Given the description of an element on the screen output the (x, y) to click on. 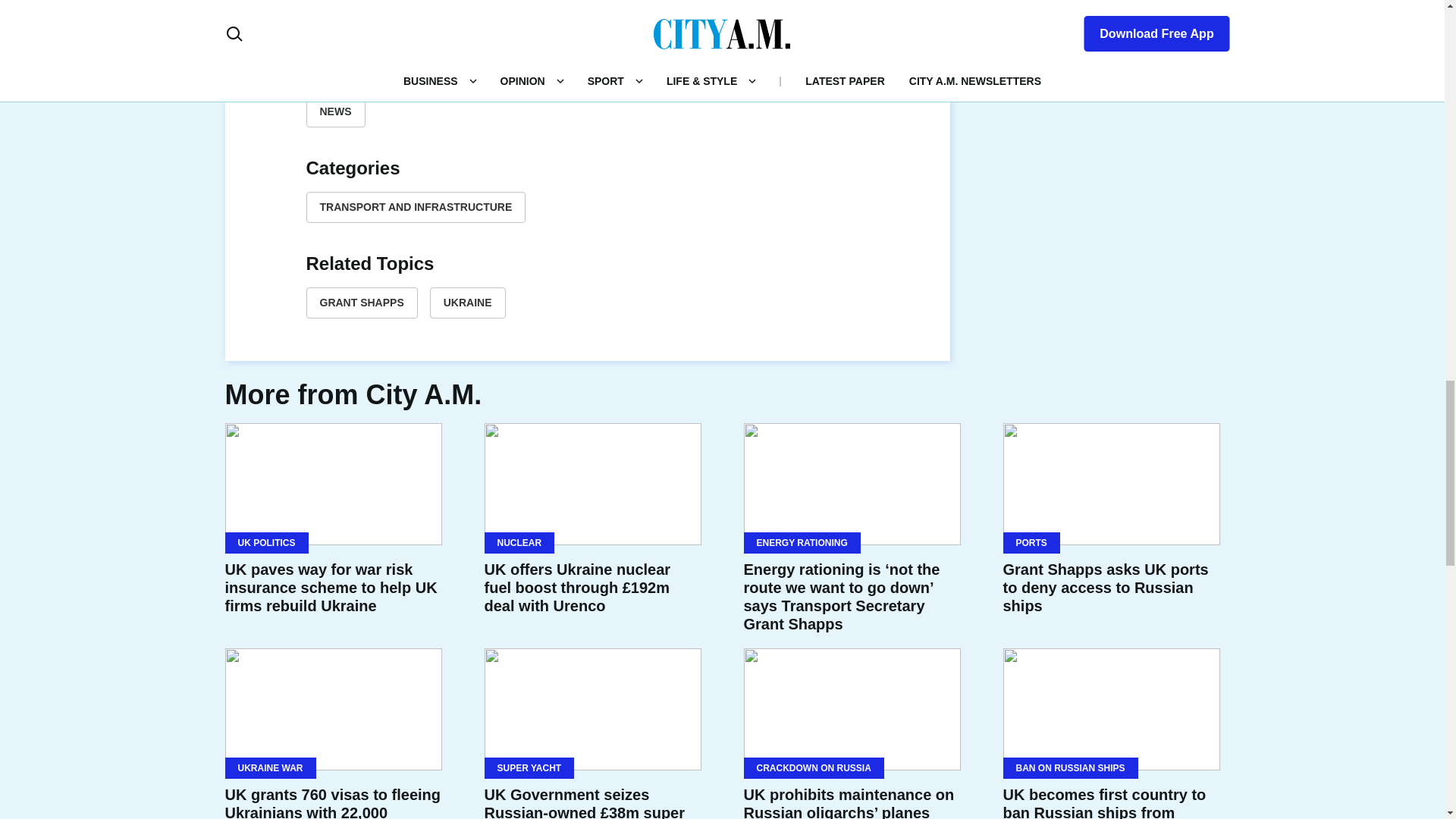
WhatsApp (622, 23)
Facebook (513, 23)
Email (659, 23)
LinkedIn (586, 23)
X (550, 23)
